Given the description of an element on the screen output the (x, y) to click on. 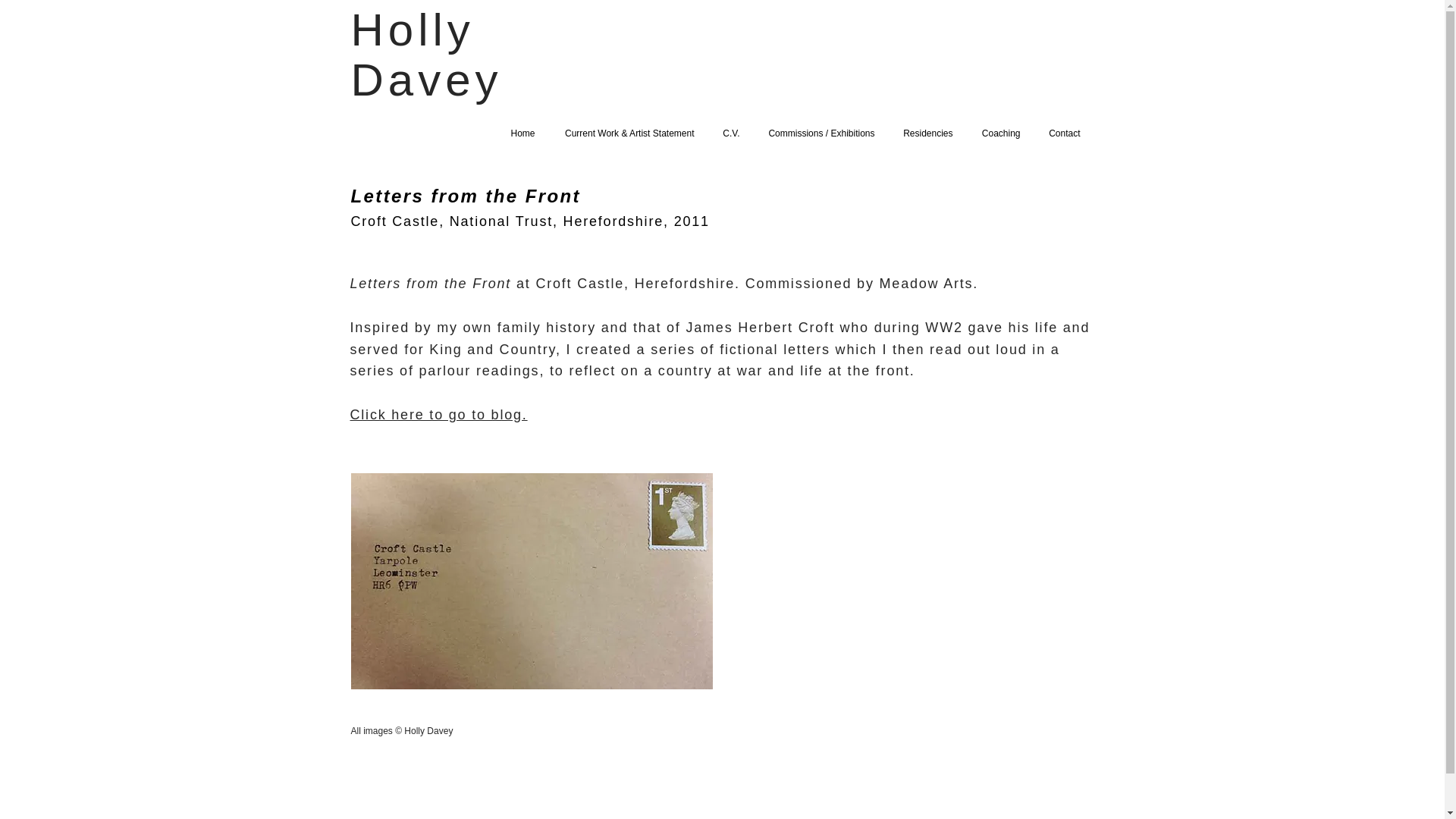
Click here to go to blog.  (441, 414)
Home (521, 133)
Contact (1062, 133)
Coaching (999, 133)
Residencies (925, 133)
C.V. (729, 133)
